Given the description of an element on the screen output the (x, y) to click on. 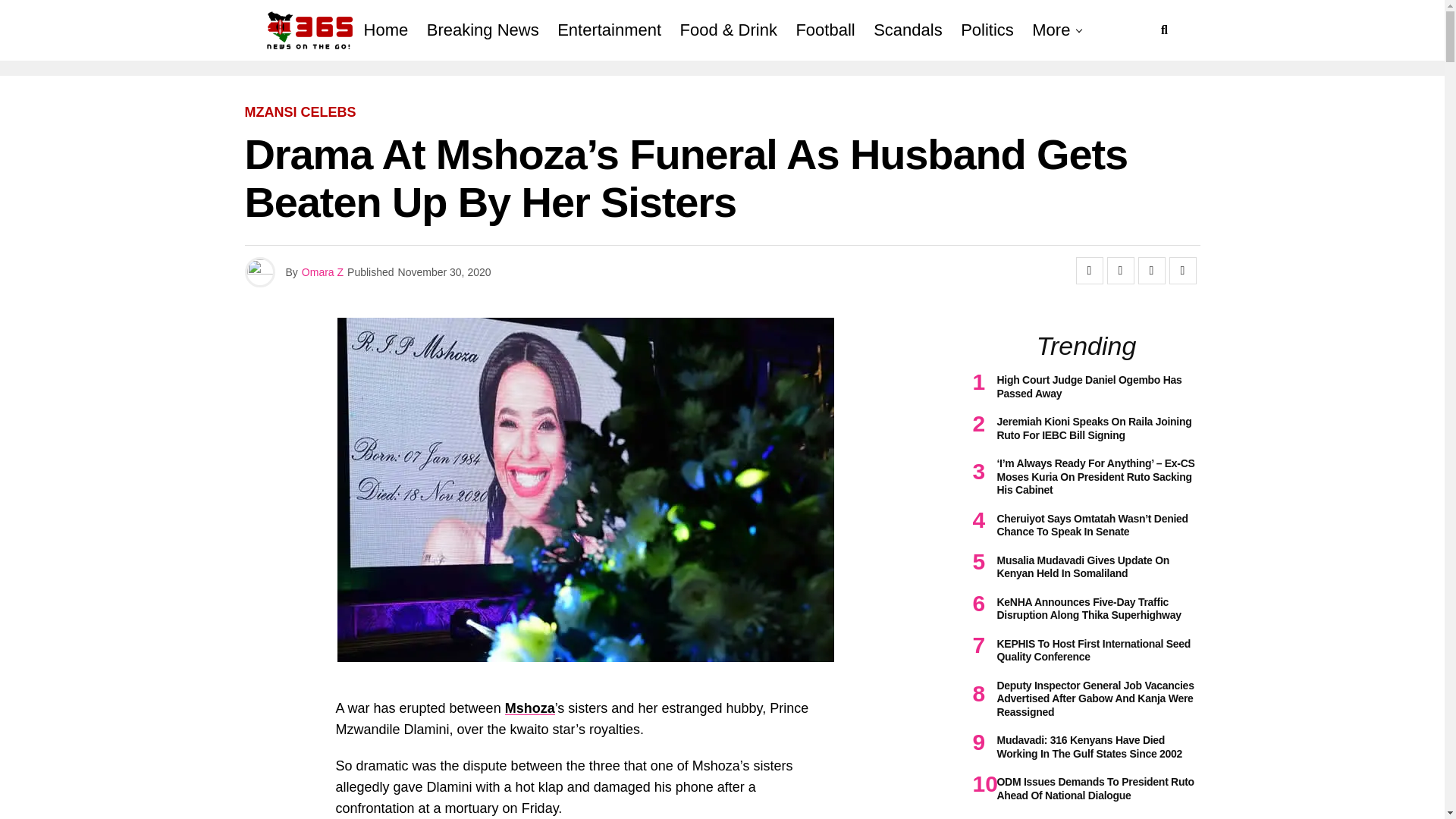
MZANSI CELEBS (299, 112)
Mshoza (529, 708)
Football (824, 30)
Posts by Omara Z (322, 272)
Entertainment (609, 30)
Breaking News (483, 30)
Home (386, 30)
Share on Facebook (1088, 270)
Omara Z (322, 272)
Politics (987, 30)
Scandals (908, 30)
Tweet This Post (1120, 270)
